Given the description of an element on the screen output the (x, y) to click on. 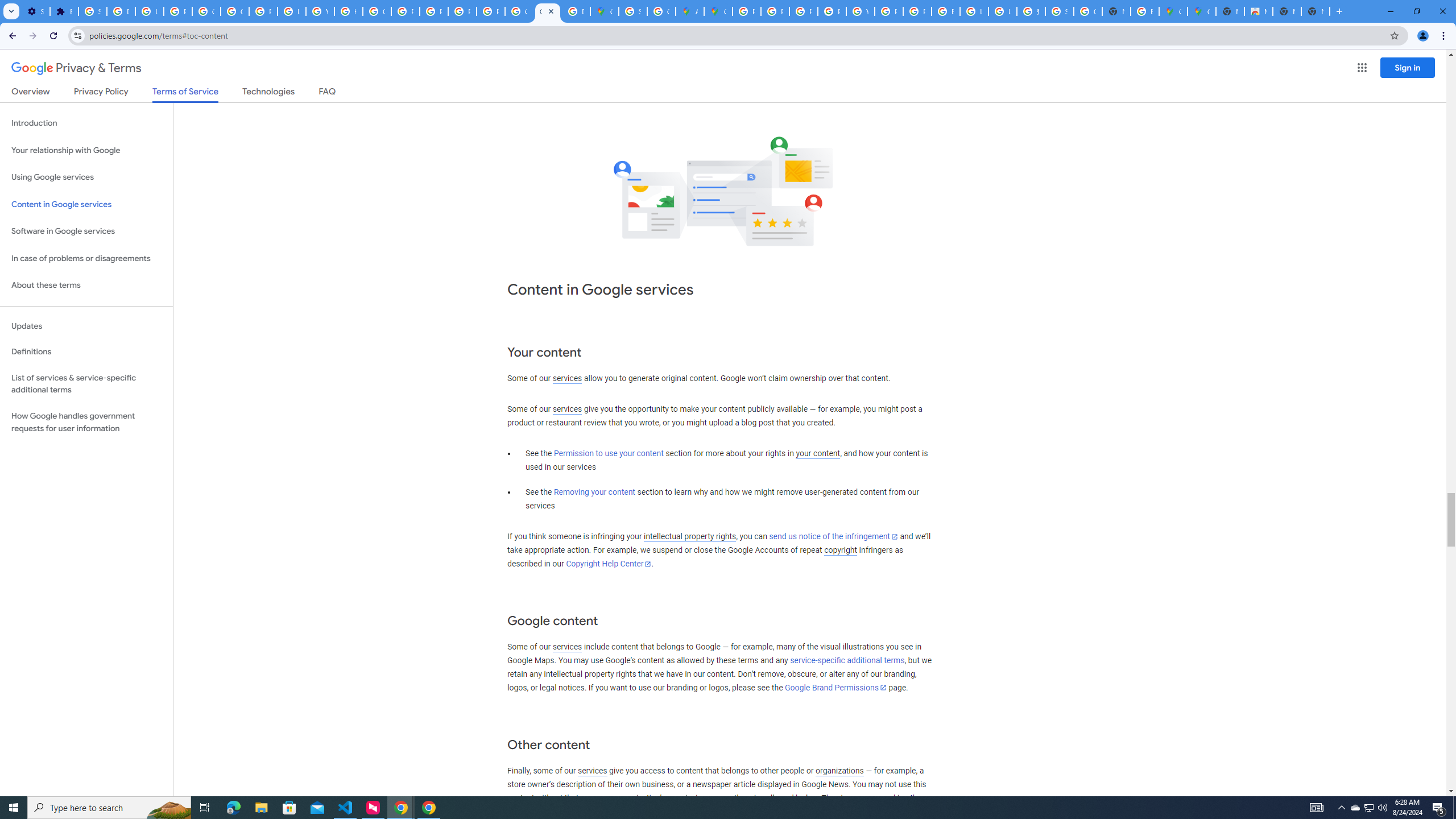
New Tab (1315, 11)
Google Maps (1201, 11)
Technologies (268, 93)
Permission to use your content (608, 453)
Google Account Help (234, 11)
Settings - On startup (35, 11)
Learn how to find your photos - Google Photos Help (148, 11)
Sign in - Google Accounts (92, 11)
Introduction (86, 122)
Privacy & Terms (76, 68)
